Given the description of an element on the screen output the (x, y) to click on. 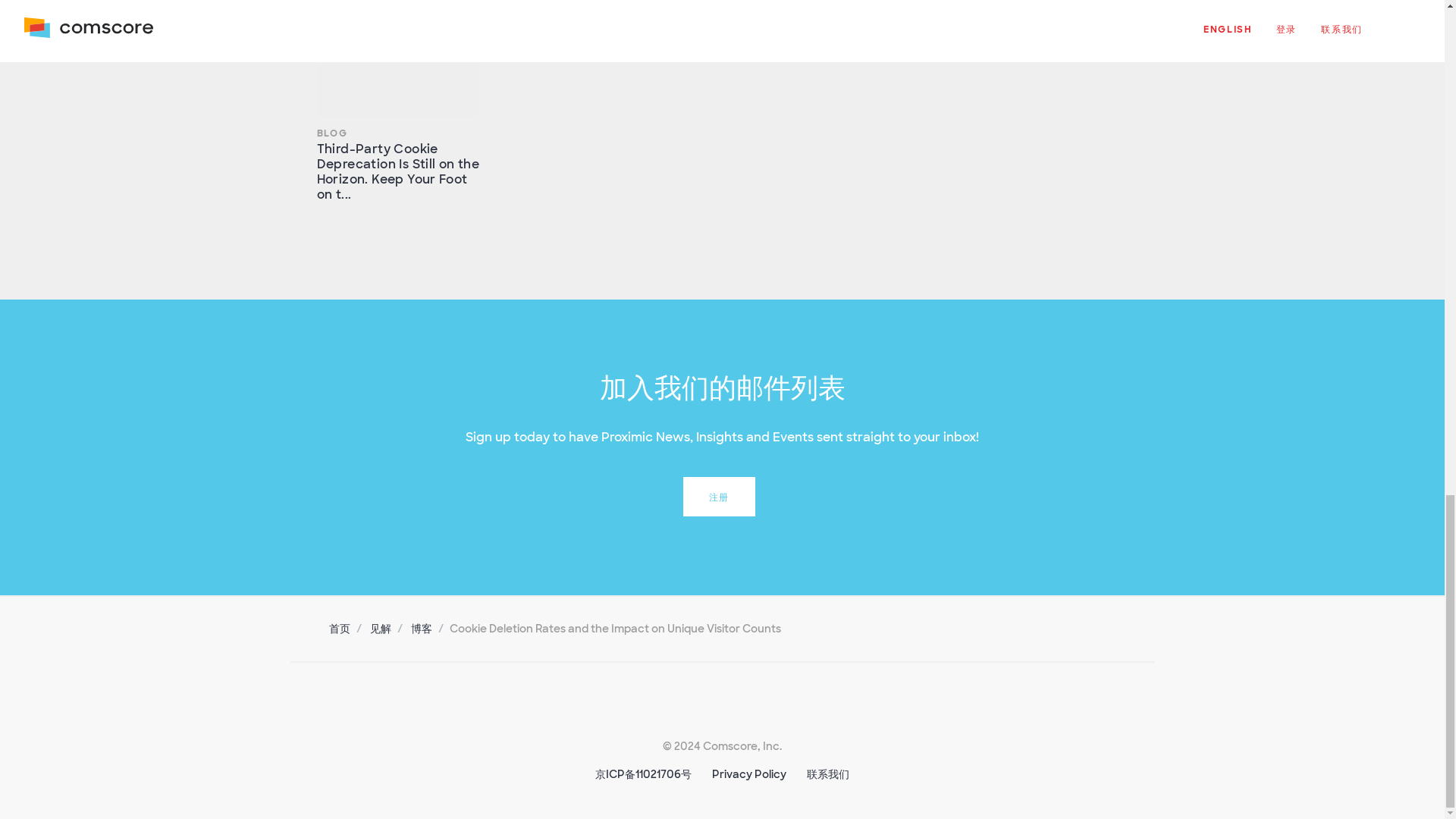
Privacy Policy (748, 774)
Privacy Policy (748, 774)
Twitter (602, 705)
YouTube (794, 705)
Instagram (746, 705)
LinkedIn (650, 705)
TikTok (697, 705)
